Given the description of an element on the screen output the (x, y) to click on. 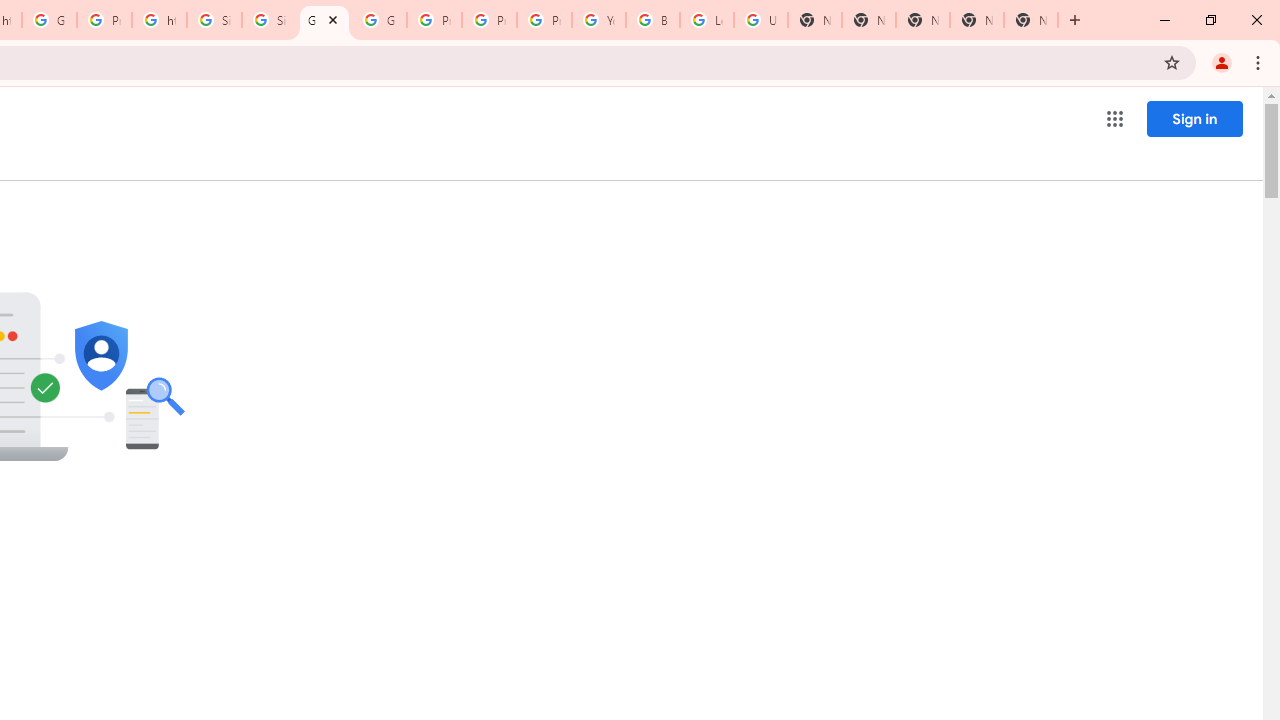
https://scholar.google.com/ (158, 20)
